Given the description of an element on the screen output the (x, y) to click on. 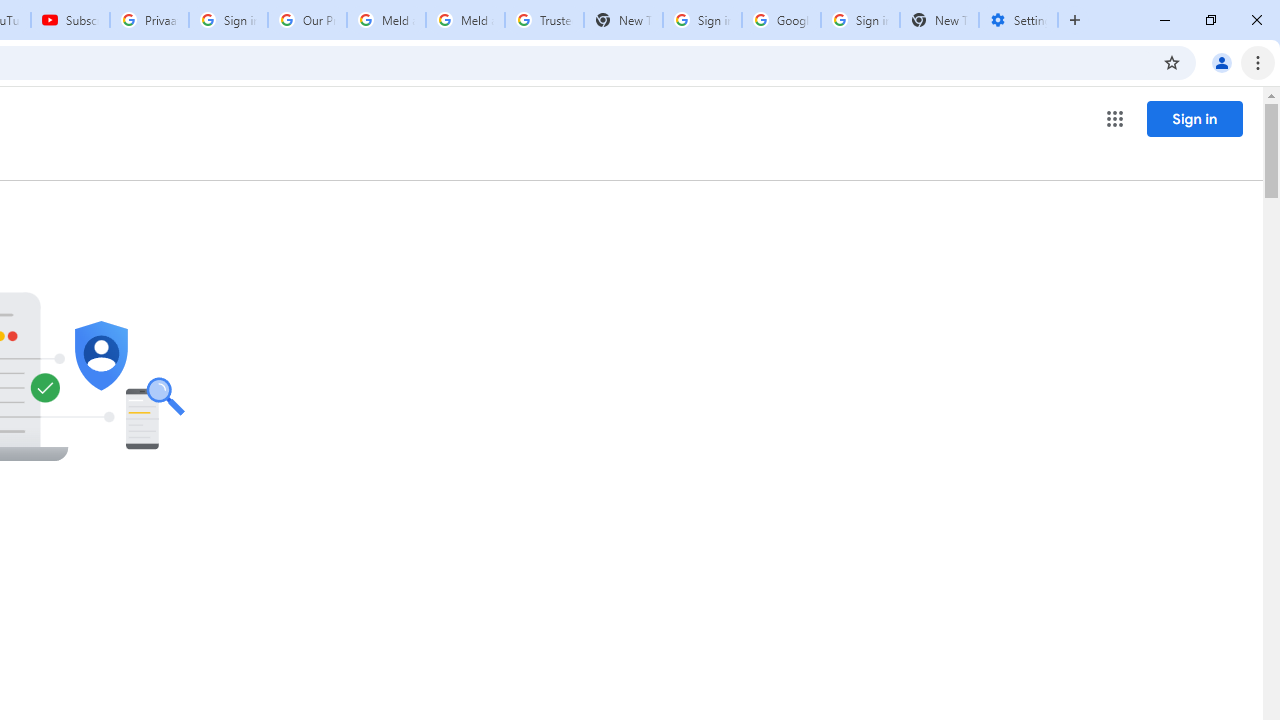
Trusted Information and Content - Google Safety Center (544, 20)
Subscriptions - YouTube (70, 20)
Google Cybersecurity Innovations - Google Safety Center (781, 20)
